Given the description of an element on the screen output the (x, y) to click on. 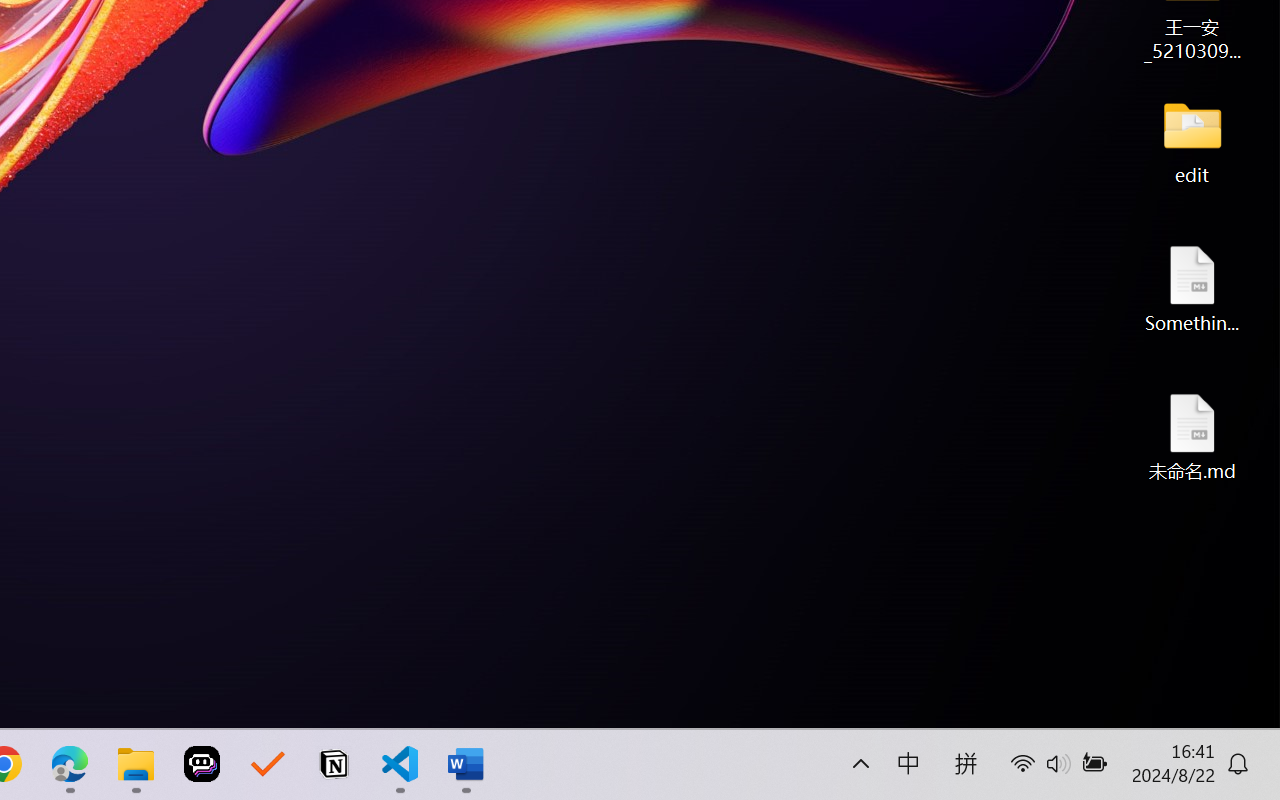
Zoom 59% (1236, 743)
